Given the description of an element on the screen output the (x, y) to click on. 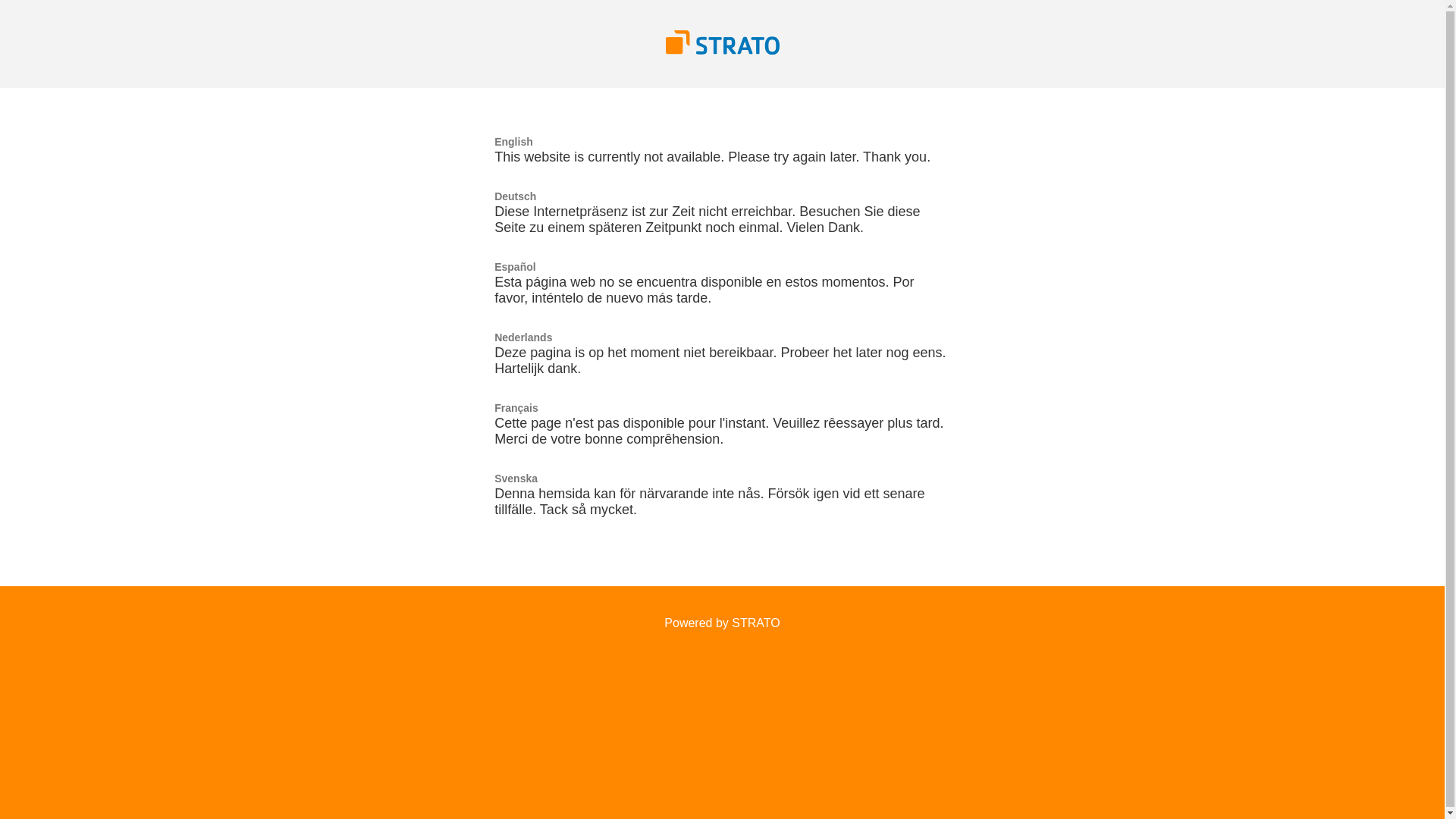
Powered by STRATO Element type: text (721, 622)
